Given the description of an element on the screen output the (x, y) to click on. 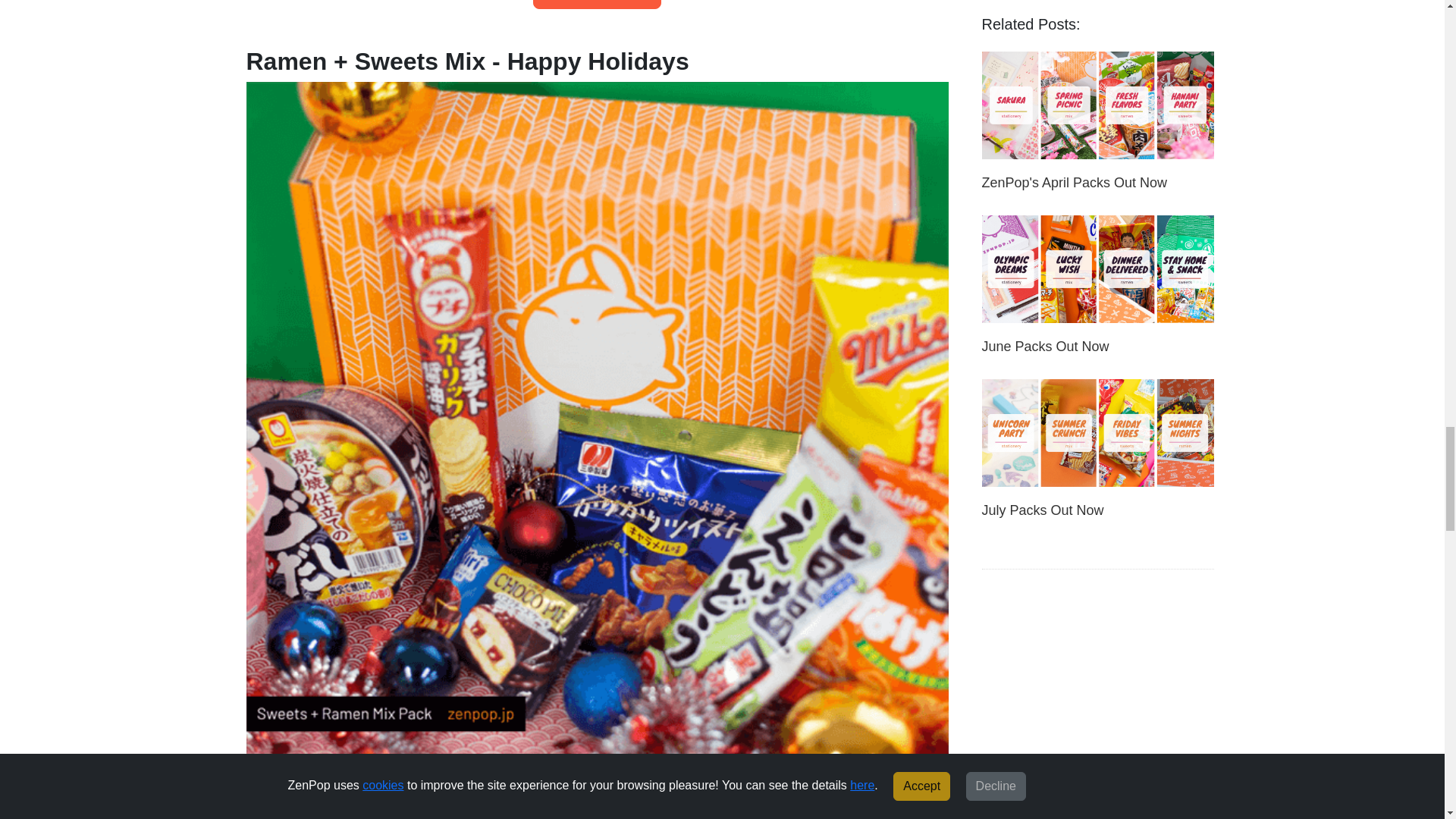
ZenPop's Japanese Ramen Subscription Box (596, 4)
